Given the description of an element on the screen output the (x, y) to click on. 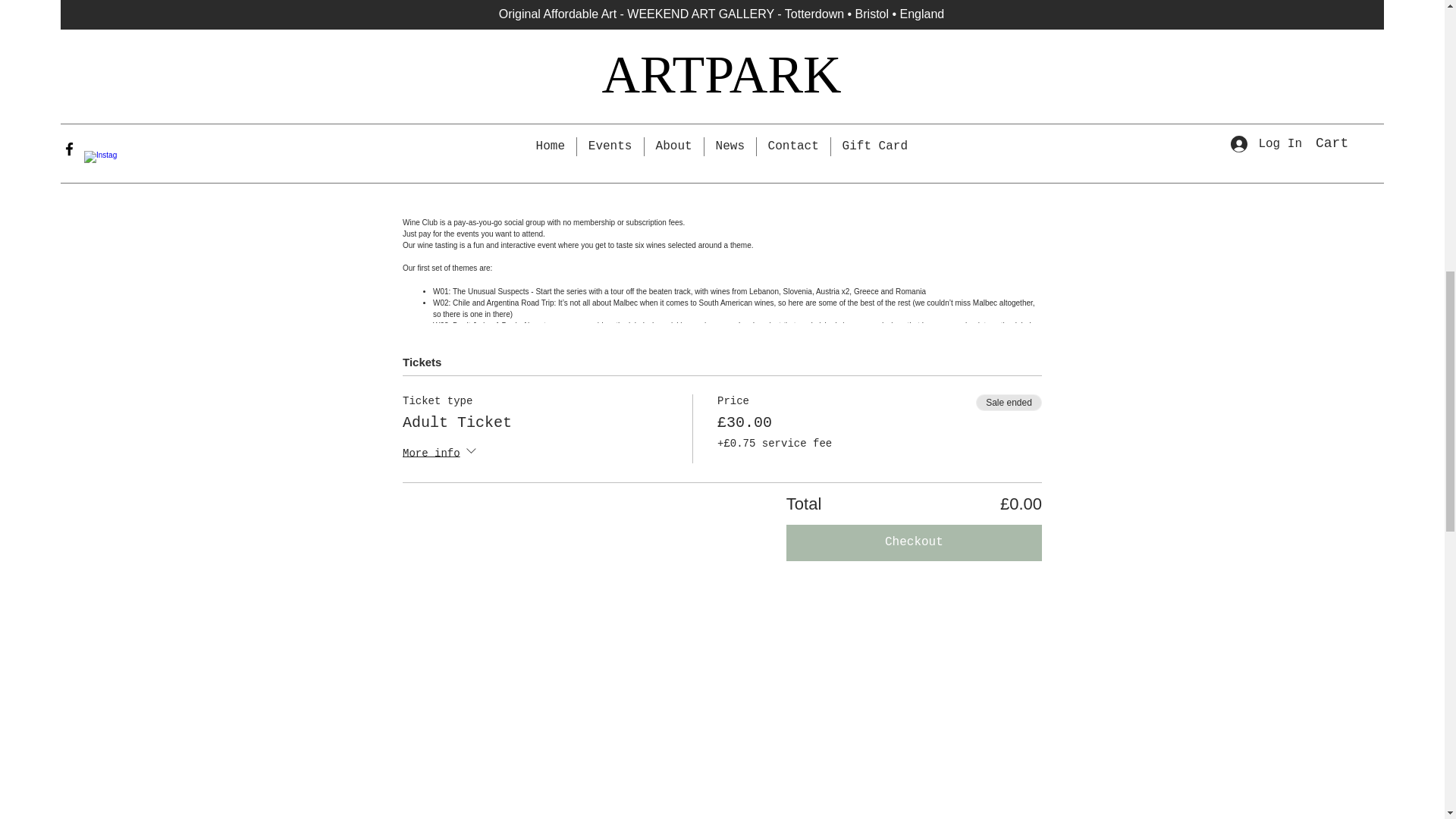
More info (441, 453)
Checkout (914, 542)
